Given the description of an element on the screen output the (x, y) to click on. 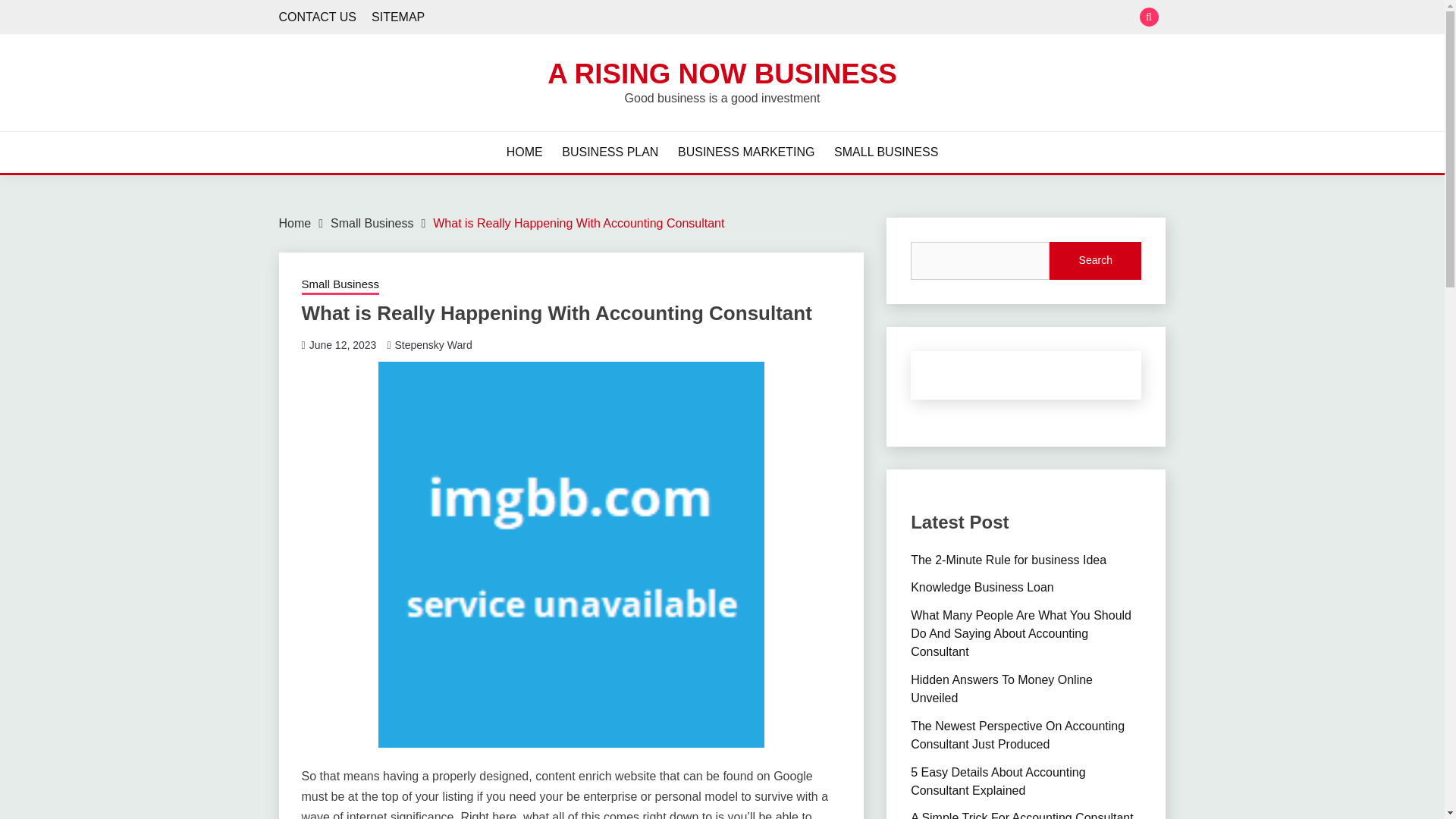
BUSINESS MARKETING (745, 152)
Hidden Answers To Money Online Unveiled (1002, 688)
What is Really Happening With Accounting Consultant (577, 223)
Stepensky Ward (432, 345)
Small Business (340, 285)
The 2-Minute Rule for business Idea (1008, 559)
CONTACT US (317, 16)
Home (295, 223)
Search (832, 18)
Search (1095, 260)
Knowledge Business Loan (982, 586)
A Simple Trick For Accounting Consultant Unmasked (1021, 815)
BUSINESS PLAN (610, 152)
A RISING NOW BUSINESS (721, 73)
June 12, 2023 (342, 345)
